Given the description of an element on the screen output the (x, y) to click on. 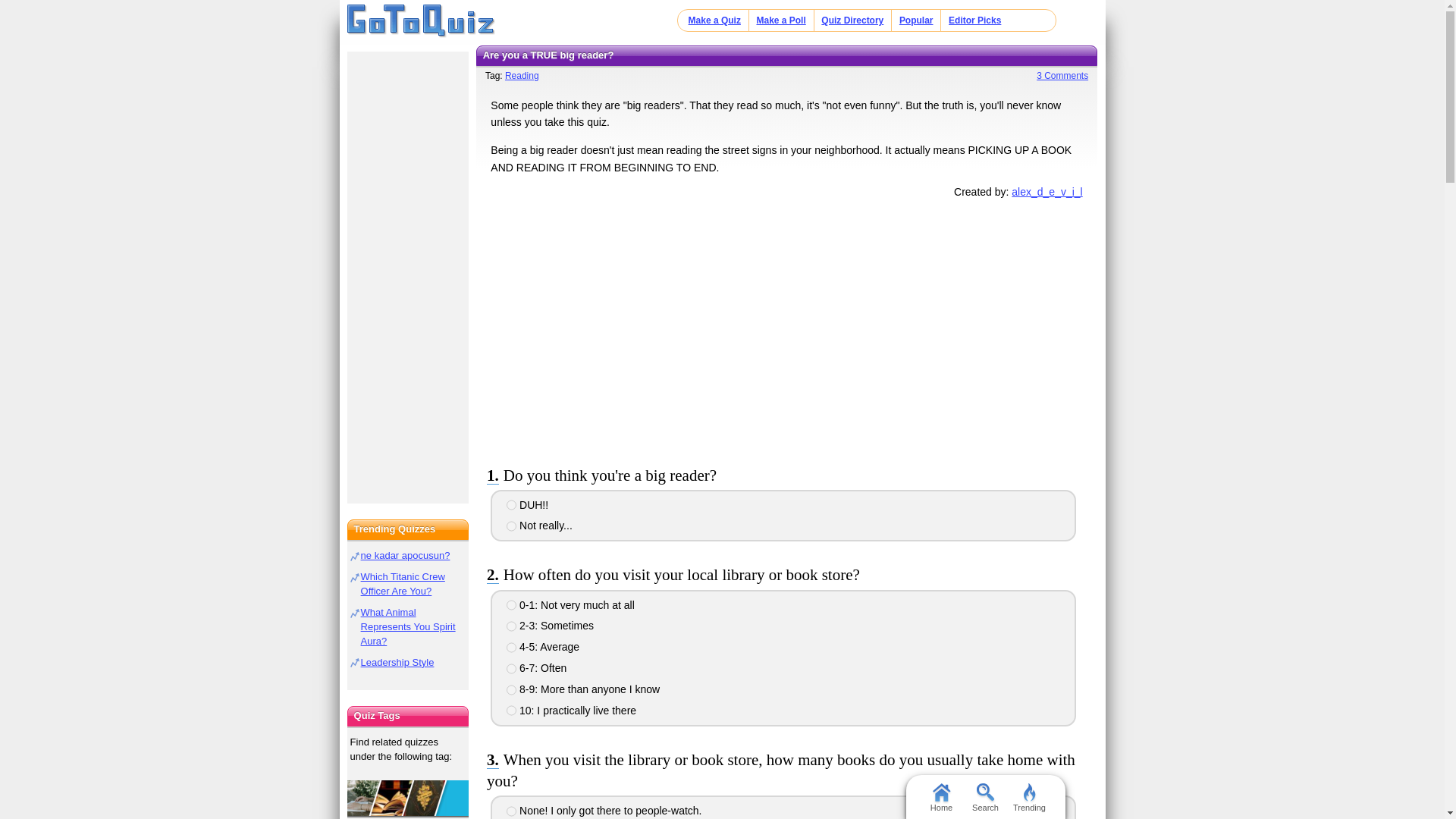
4 (511, 668)
Make a Quiz (714, 20)
ne kadar apocusun? (405, 555)
Advertisement (786, 328)
Which Titanic Crew Officer Are You? (403, 583)
Search (984, 796)
Trending (1029, 796)
5 (511, 689)
Quiz Directory (852, 20)
Home (940, 796)
